Given the description of an element on the screen output the (x, y) to click on. 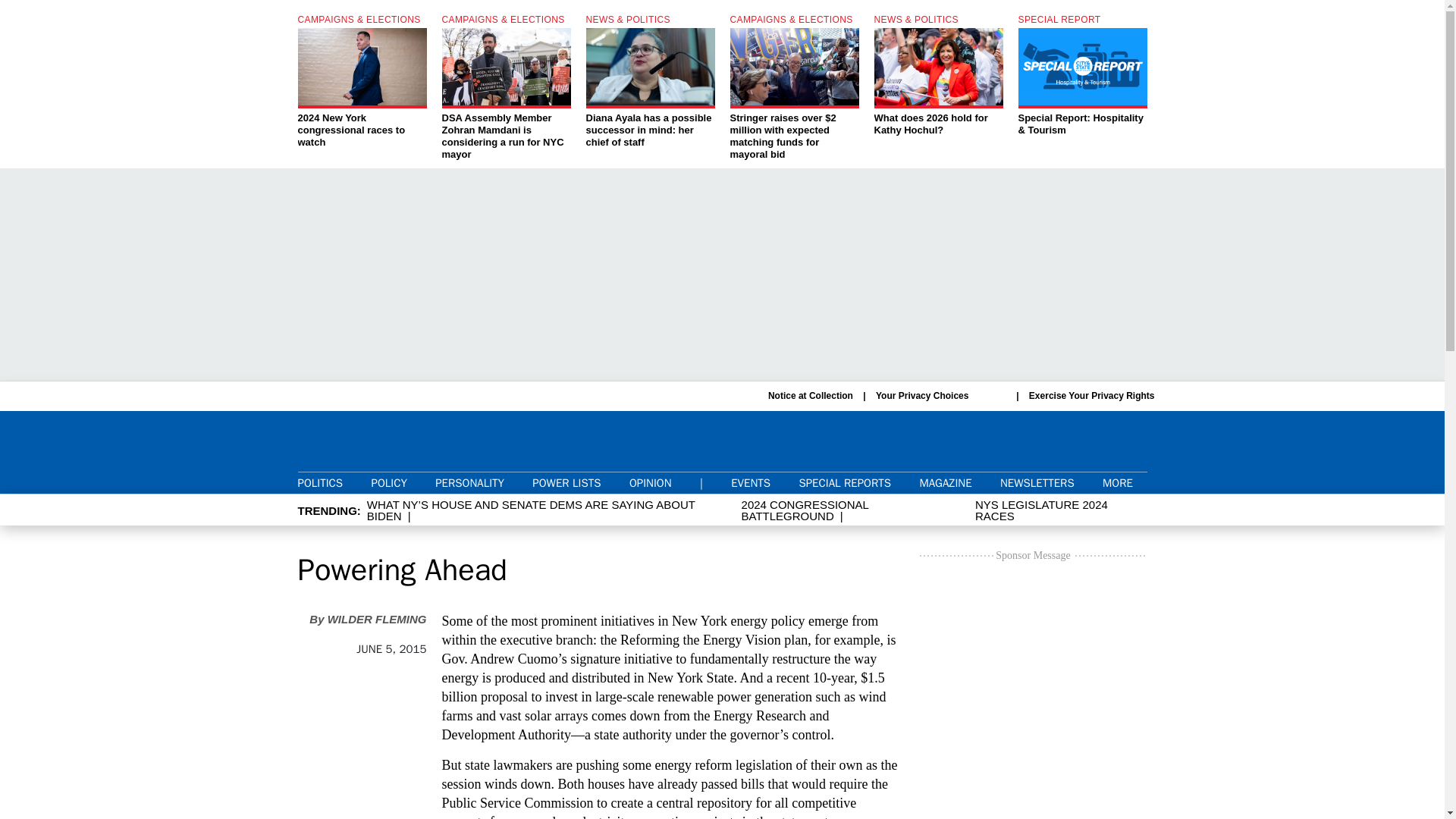
EVENTS (750, 482)
OPINION (649, 482)
POLITICS (319, 482)
Your Privacy Choices (941, 396)
Notice at Collection (810, 395)
PERSONALITY (469, 482)
SPECIAL REPORTS (844, 482)
NEWSLETTERS (1037, 482)
MORE (1124, 482)
Exercise Your Privacy Rights (1091, 395)
POLICY (388, 482)
3rd party ad content (1032, 692)
POWER LISTS (565, 482)
MAGAZINE (944, 482)
